Given the description of an element on the screen output the (x, y) to click on. 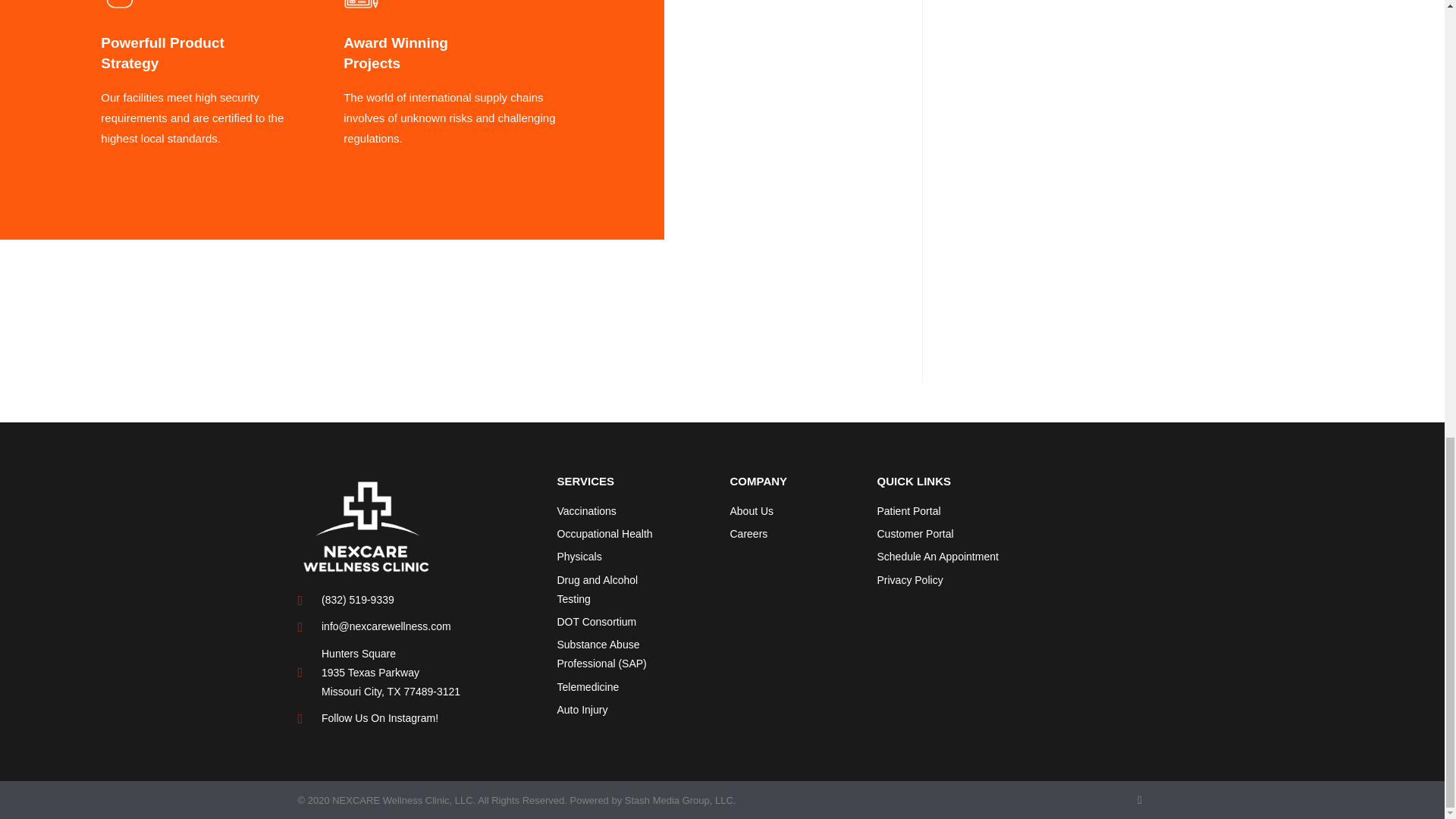
Vaccinations (613, 511)
DOT Consortium (613, 621)
Occupational Health (613, 533)
Follow Us On Instagram! (419, 718)
Drug and Alcohol Testing (613, 589)
Physicals (613, 556)
